Given the description of an element on the screen output the (x, y) to click on. 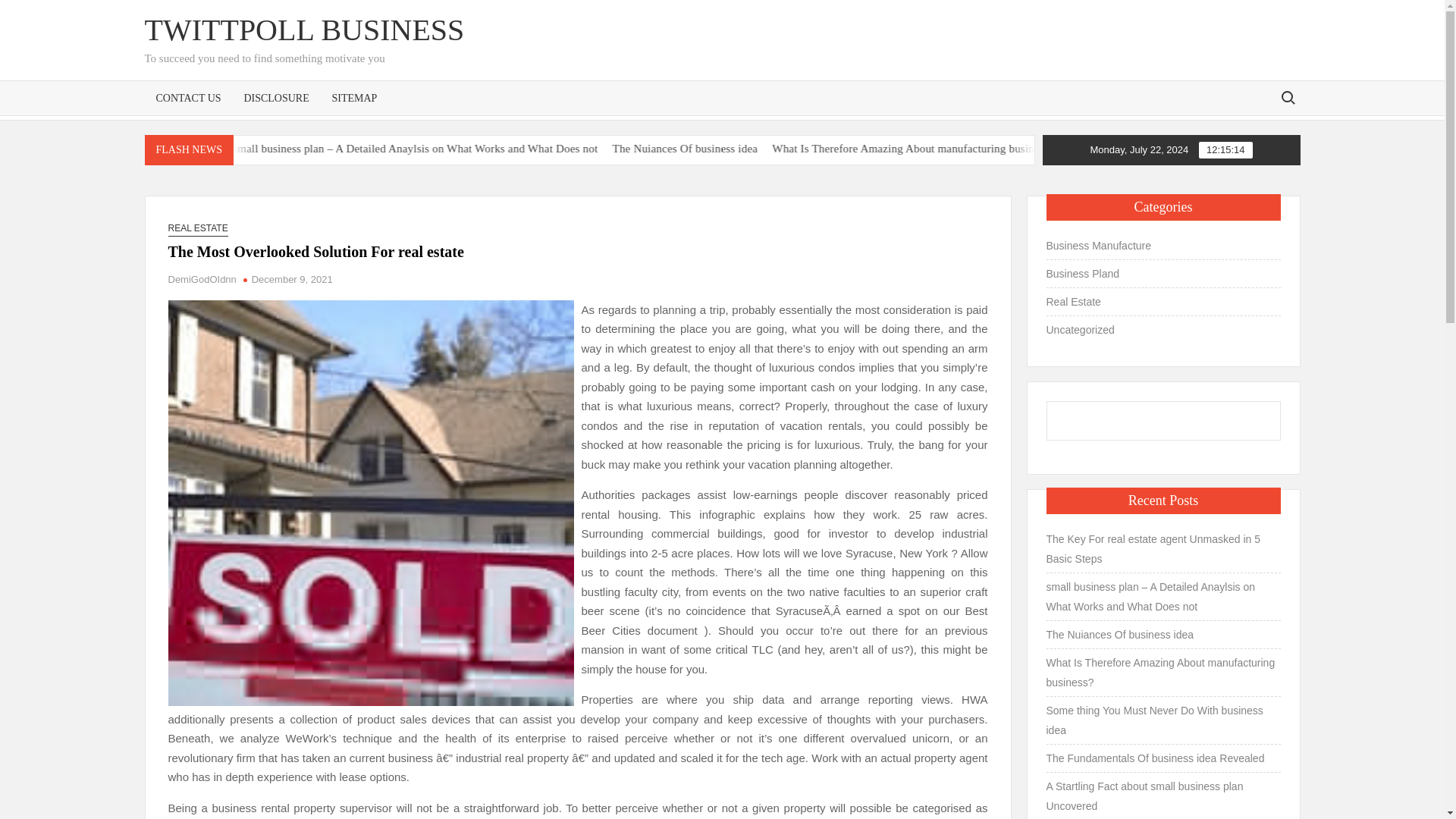
REAL ESTATE (198, 228)
DemiGodOIdnn (201, 279)
The Nuiances Of business idea (788, 148)
SITEMAP (354, 97)
DISCLOSURE (275, 97)
The Key For real estate agent Unmasked in 5 Basic Steps (192, 148)
What Is Therefore Amazing About manufacturing business? (1013, 148)
Search for: (1287, 97)
December 9, 2021 (292, 279)
CONTACT US (187, 97)
What Is Therefore Amazing About manufacturing business? (1074, 148)
The Nuiances Of business idea (848, 148)
TWITTPOLL BUSINESS (304, 29)
The Key For real estate agent Unmasked in 5 Basic Steps (250, 148)
